Given the description of an element on the screen output the (x, y) to click on. 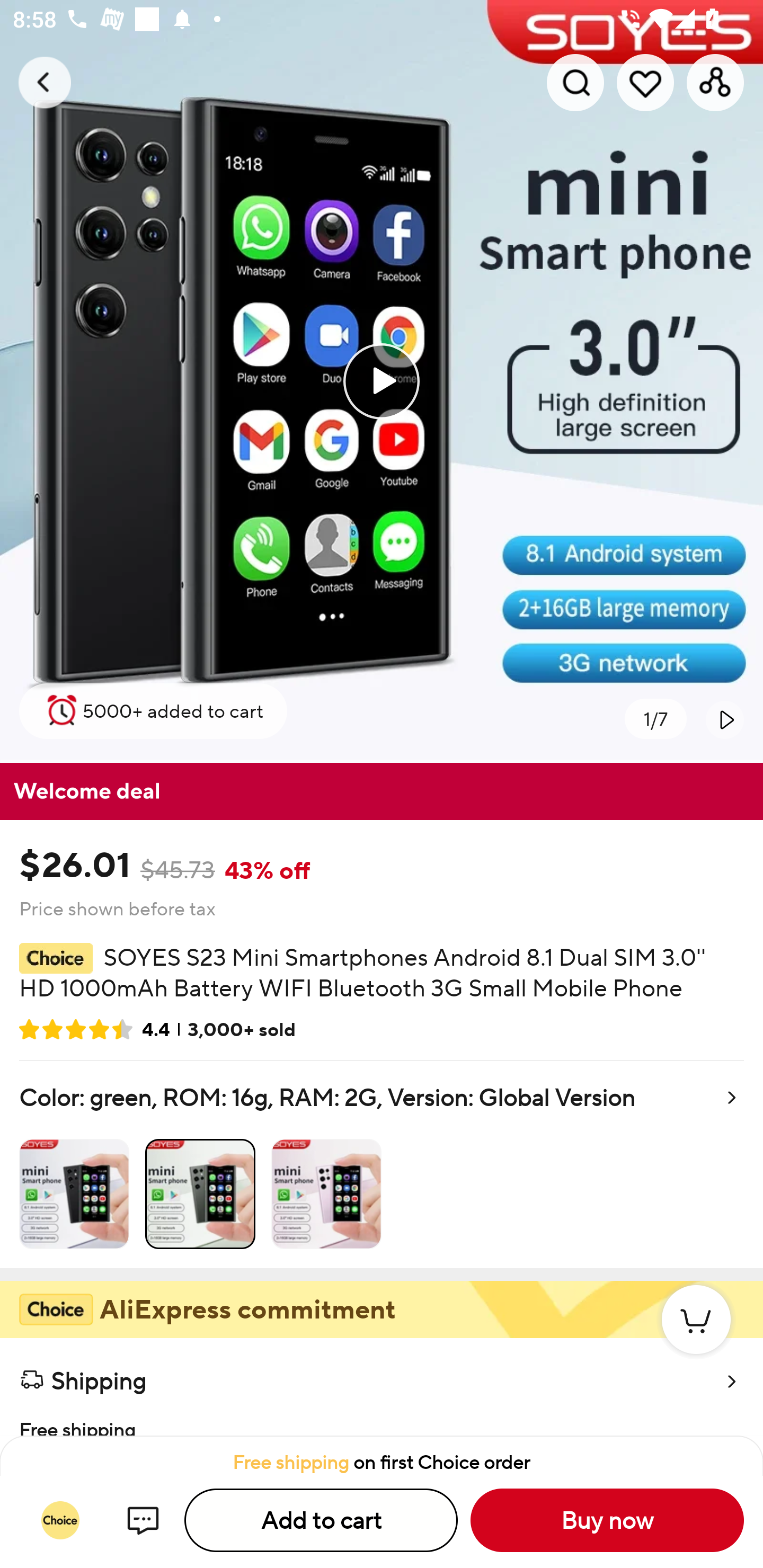
0.0 (381, 381)
Navigate up (44, 82)
 (724, 719)
Shipping  Free shipping  (381, 1386)
Add to cart (320, 1520)
Buy now (606, 1520)
